Given the description of an element on the screen output the (x, y) to click on. 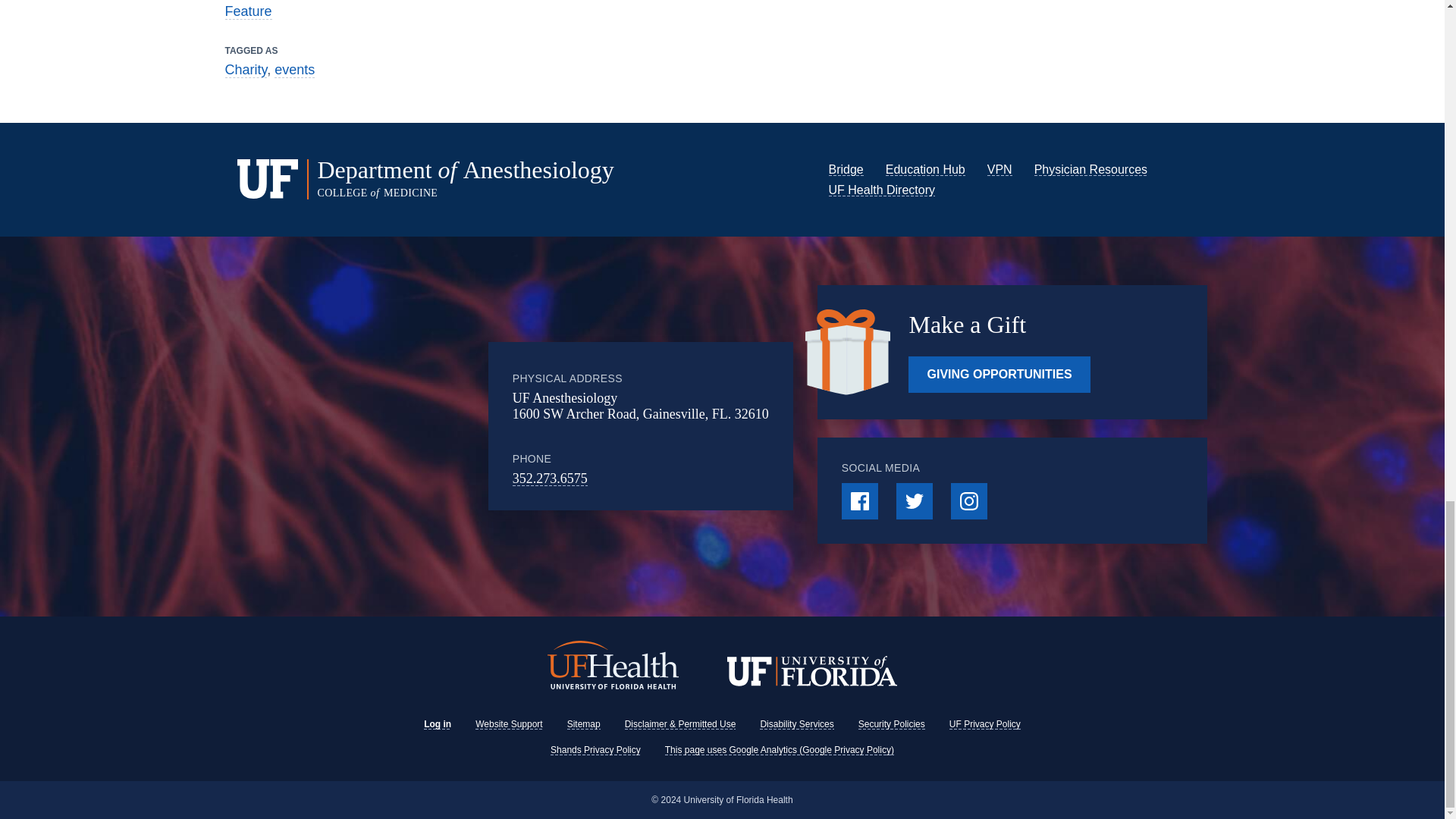
Education Hub (925, 169)
Log in (437, 724)
Website Support (509, 724)
Google Maps Embed (410, 425)
352.273.6575 (550, 478)
VPN (999, 169)
Security Policies (891, 724)
Bridge (845, 169)
UF Health Directory (881, 189)
Disability Services (796, 724)
UF Privacy Policy (984, 724)
Physician Resources (1090, 169)
Shands Privacy Policy (595, 749)
Sitemap (583, 724)
